Given the description of an element on the screen output the (x, y) to click on. 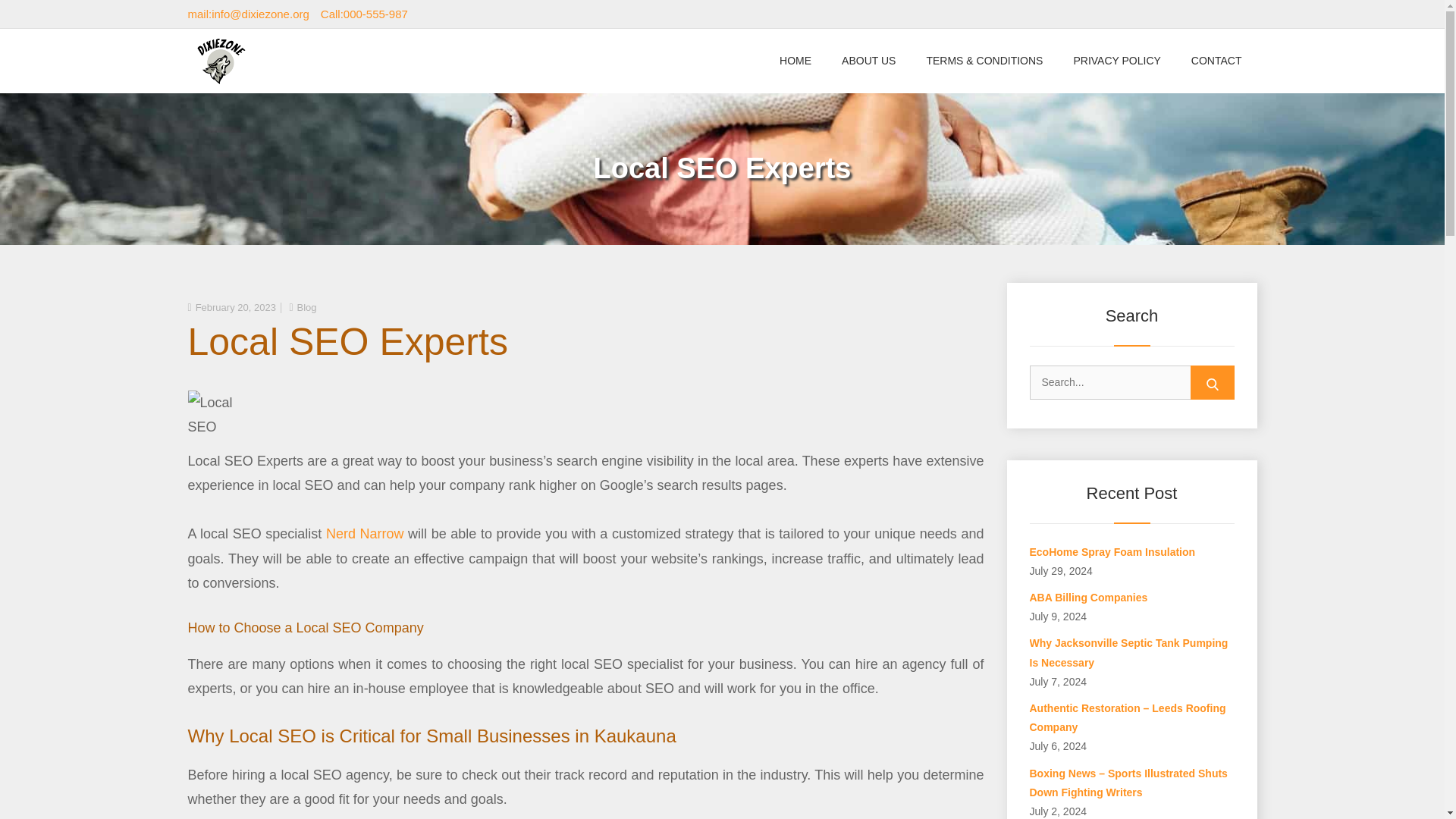
EcoHome Spray Foam Insulation (1112, 551)
ABOUT US (869, 60)
CONTACT (1216, 60)
Why Jacksonville Septic Tank Pumping Is Necessary (1128, 652)
Dixiezone (234, 101)
Nerd Narrow (365, 533)
Call:000-555-987 (363, 13)
Blog (307, 307)
ABA Billing Companies (1088, 597)
HOME (795, 60)
February 20, 2023 (235, 307)
PRIVACY POLICY (1116, 60)
